Given the description of an element on the screen output the (x, y) to click on. 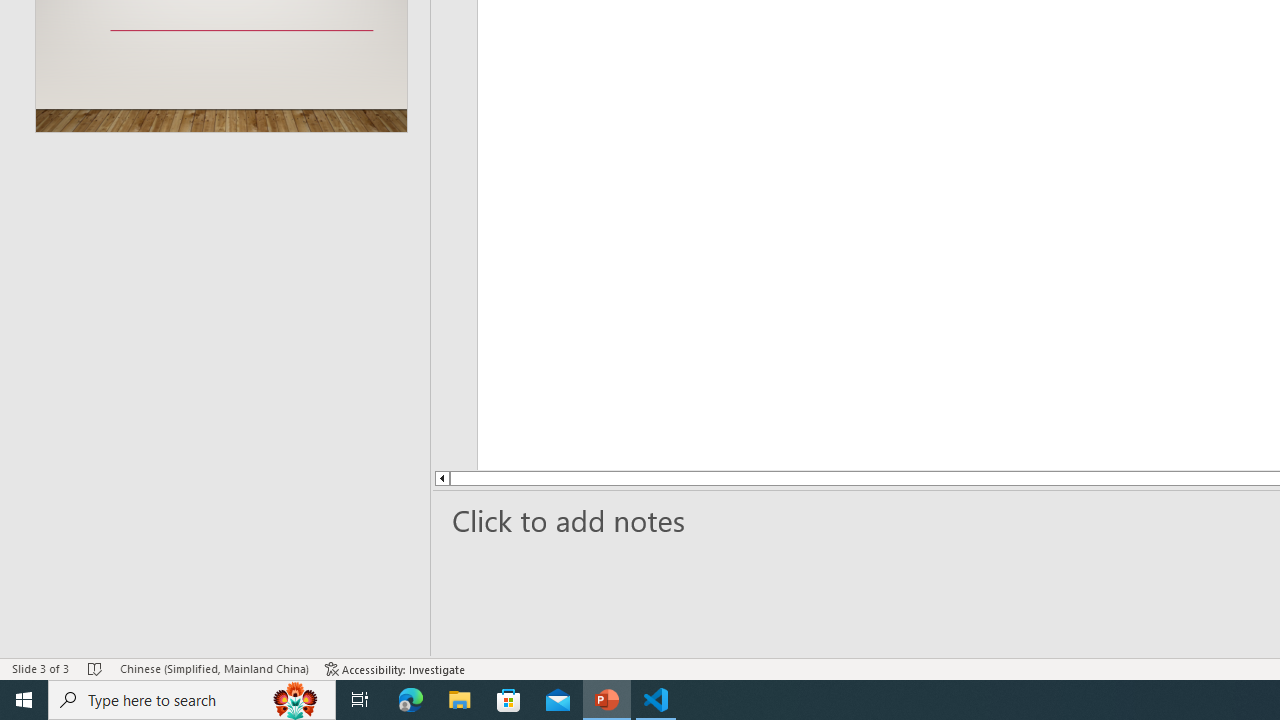
Spell Check No Errors (95, 668)
Accessibility Checker Accessibility: Investigate (395, 668)
Line up (381, 478)
